Given the description of an element on the screen output the (x, y) to click on. 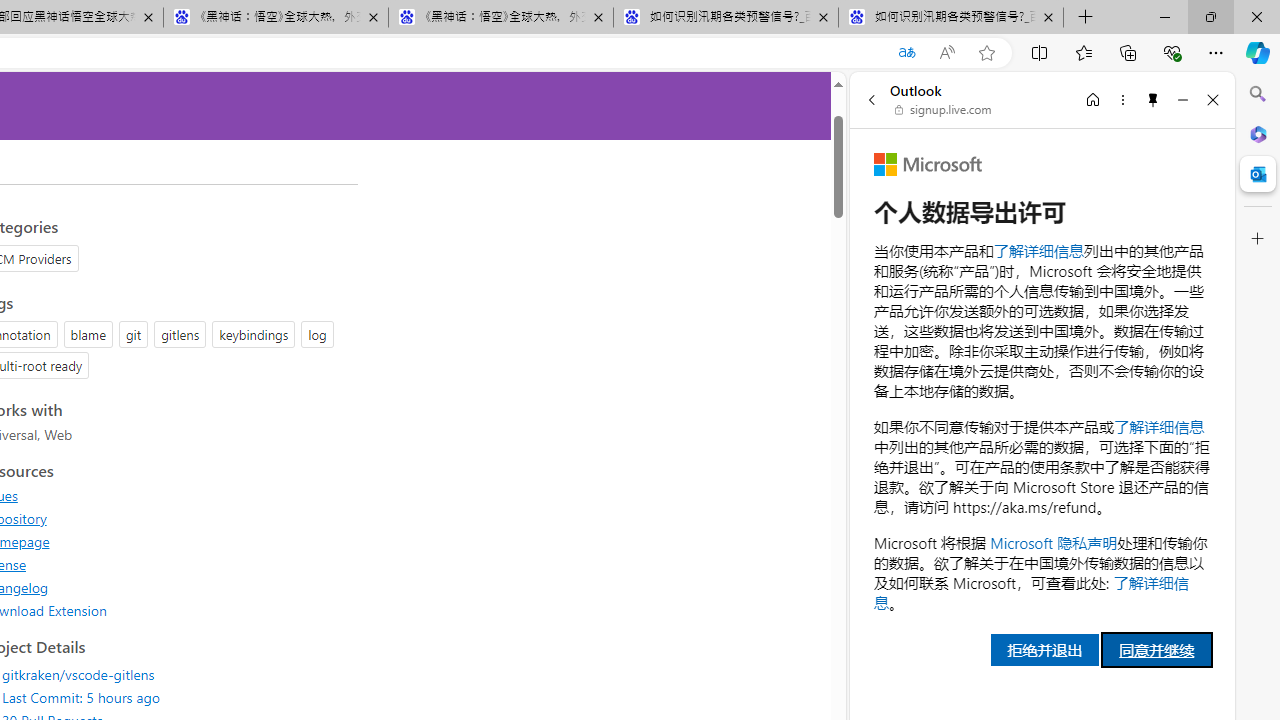
Translated (906, 53)
